Given the description of an element on the screen output the (x, y) to click on. 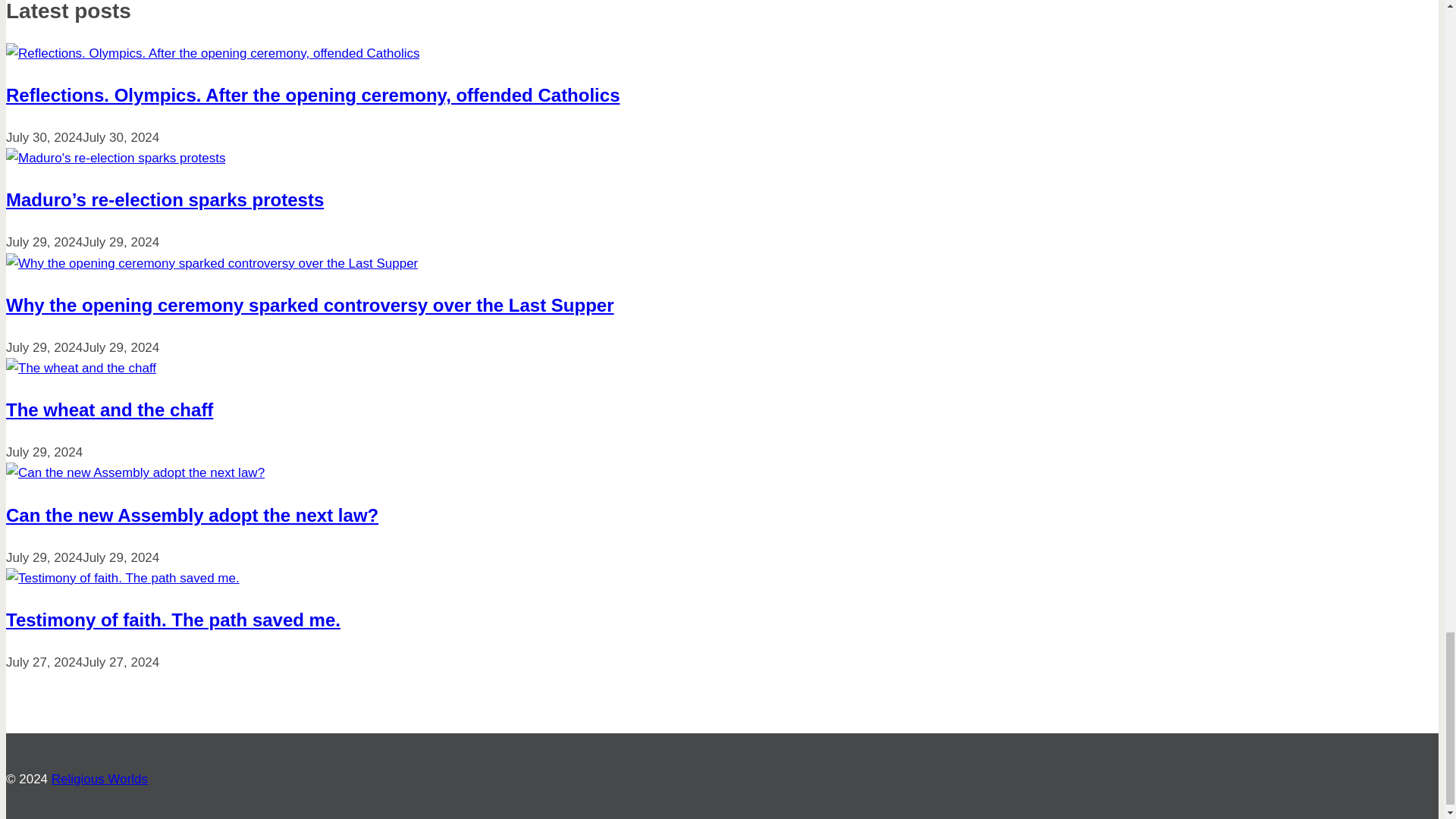
Testimony of faith. The path saved me. (172, 619)
The wheat and the chaff (108, 409)
Can the new Assembly adopt the next law? (191, 515)
Religious Worlds (99, 779)
